Given the description of an element on the screen output the (x, y) to click on. 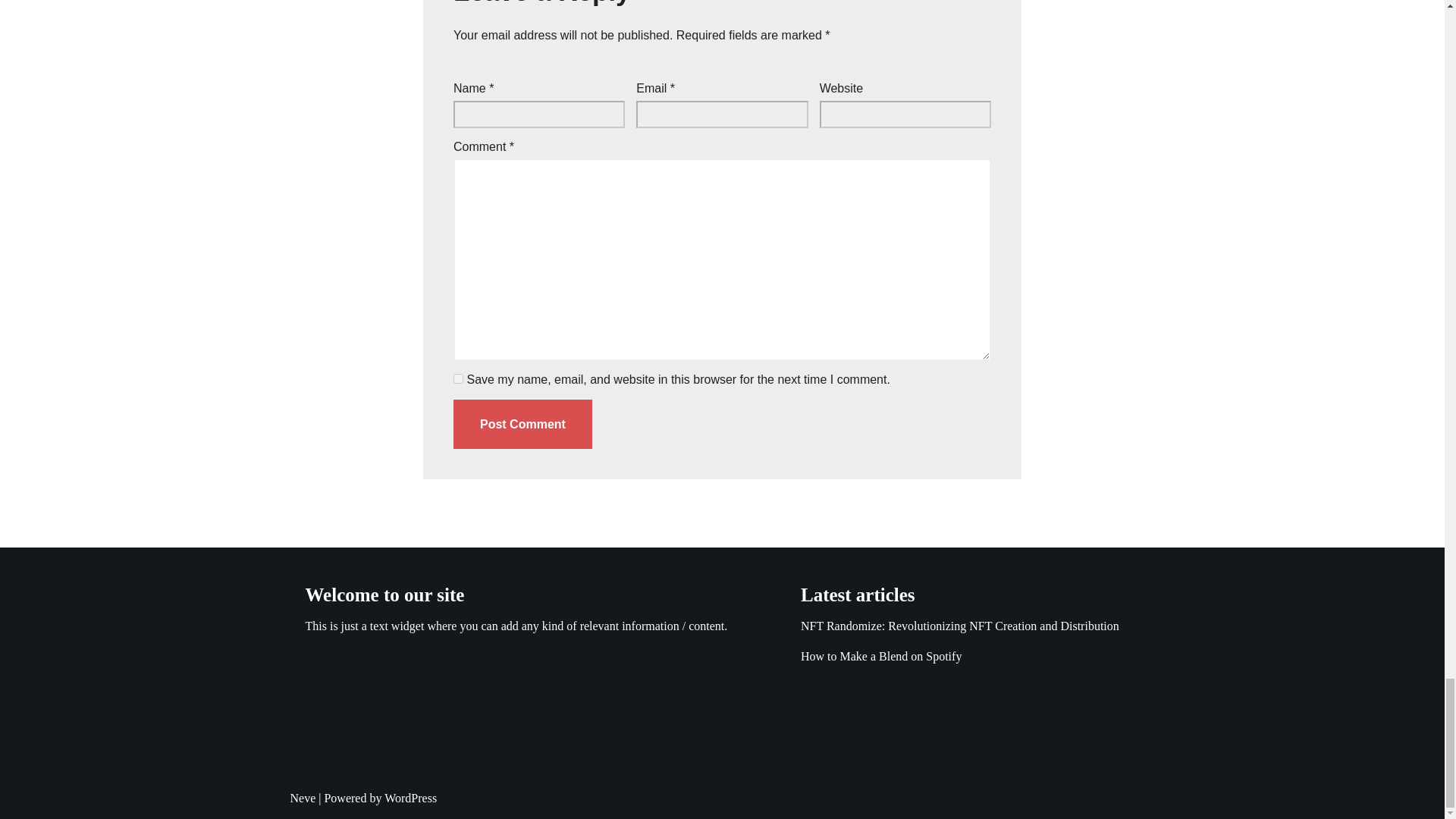
WordPress (410, 797)
Neve (302, 797)
Post Comment (522, 424)
How to Make a Blend on Spotify (880, 656)
yes (457, 378)
Post Comment (522, 424)
NFT Randomize: Revolutionizing NFT Creation and Distribution (959, 625)
